Given the description of an element on the screen output the (x, y) to click on. 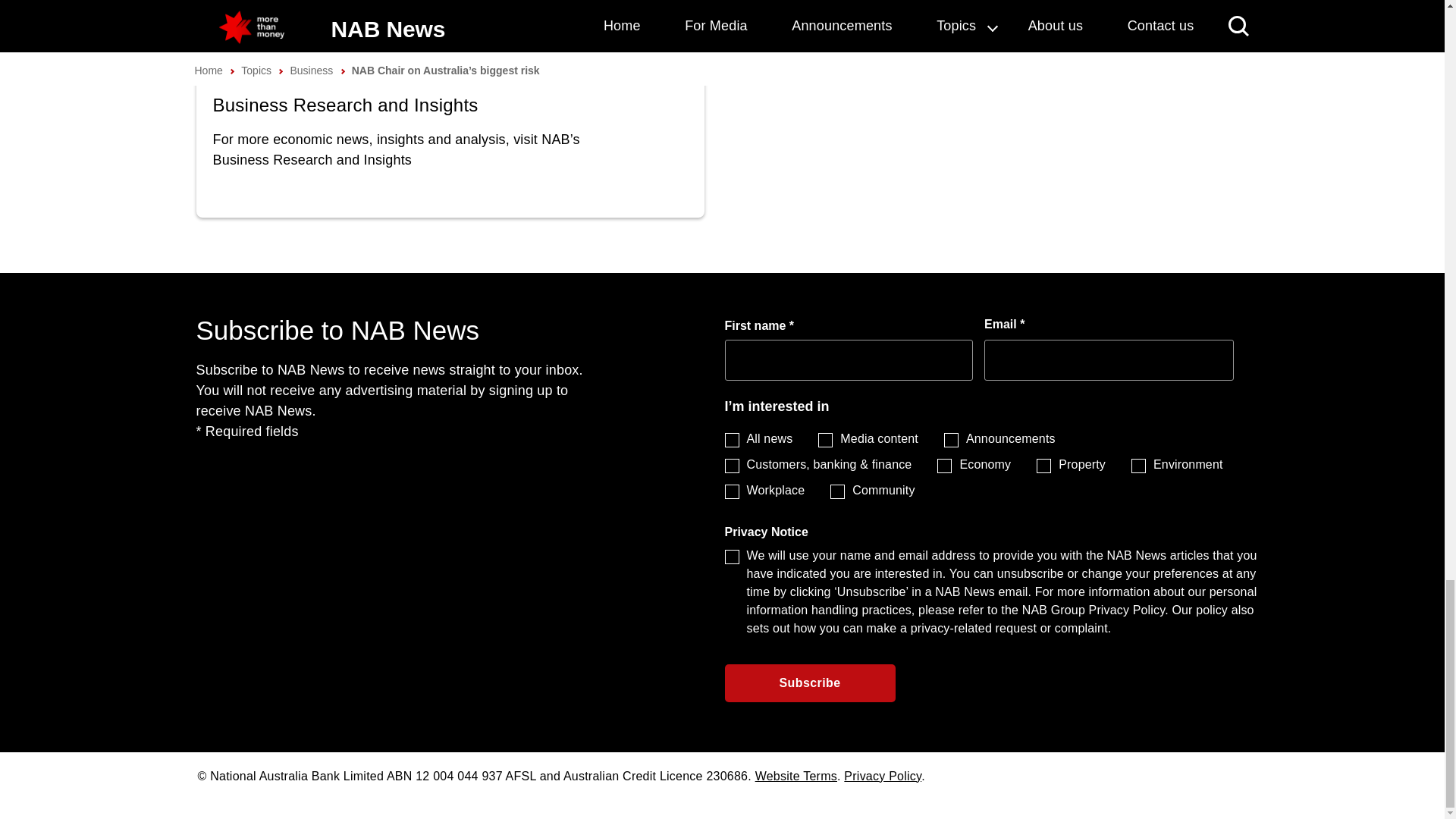
Find Our More (449, 146)
Subscribe (810, 682)
